Given the description of an element on the screen output the (x, y) to click on. 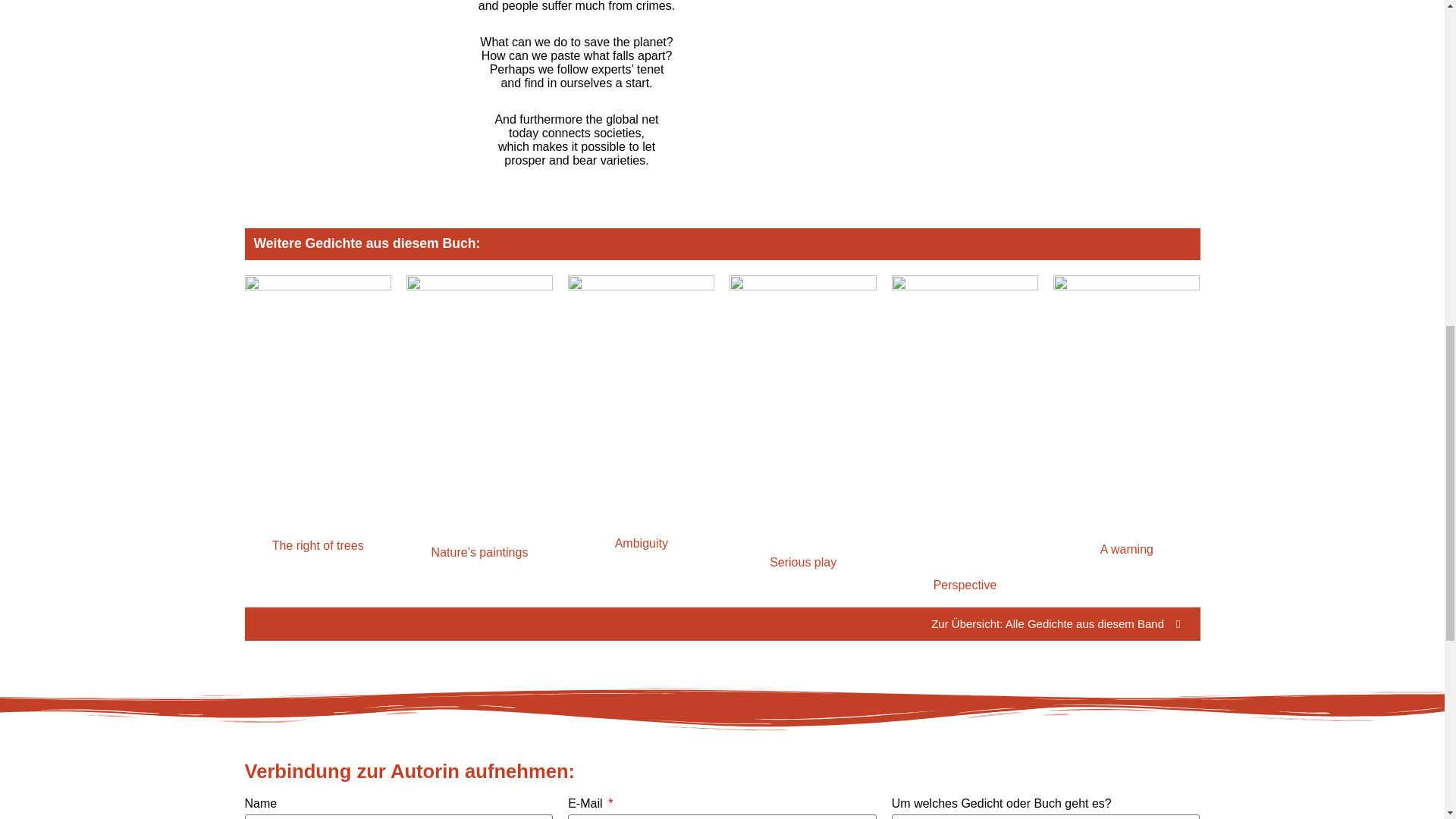
The right of trees (318, 545)
Ambiguity (641, 543)
Serious play (802, 562)
Perspective (965, 584)
A warning (1126, 549)
